Given the description of an element on the screen output the (x, y) to click on. 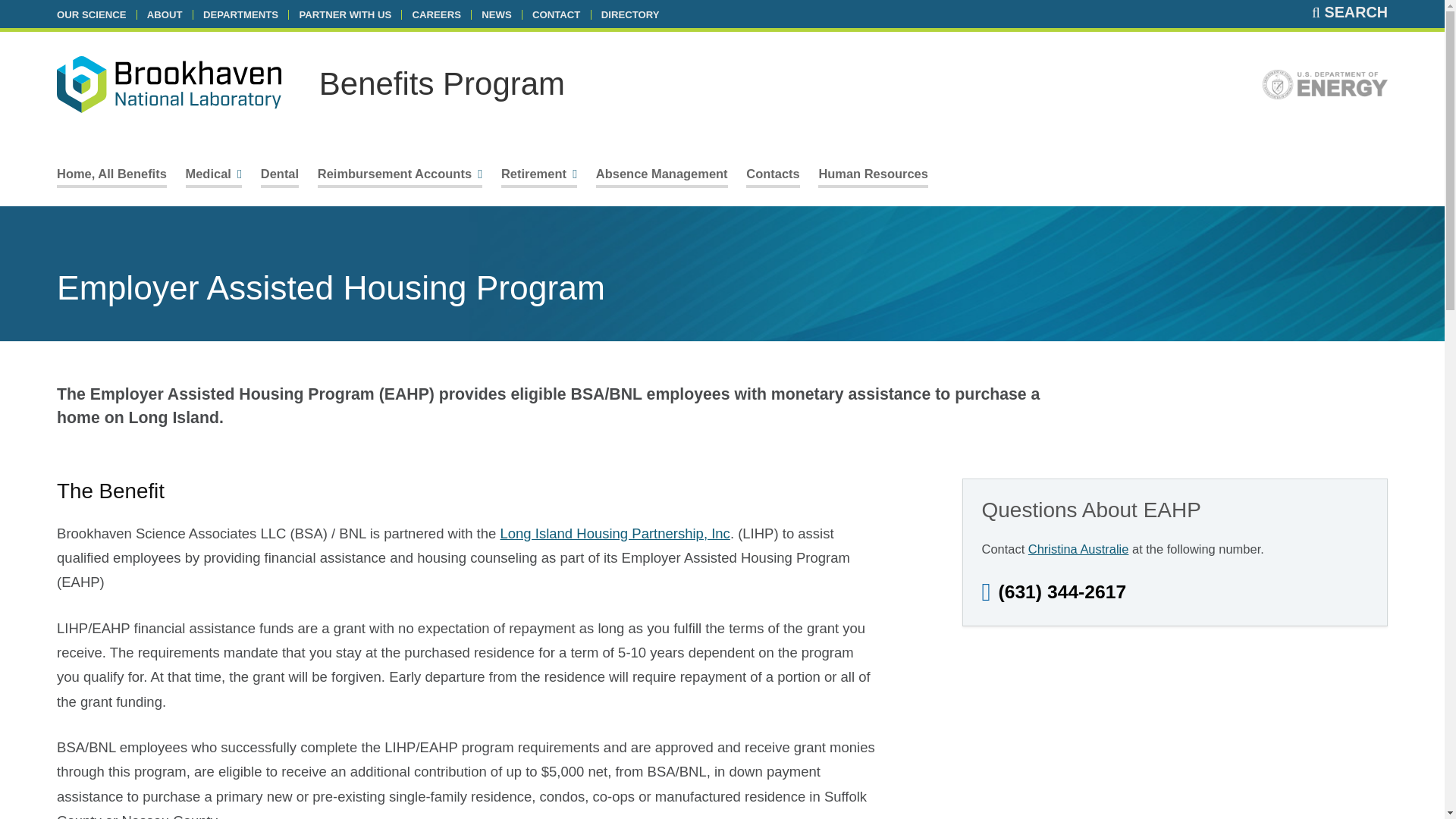
NEWS (496, 14)
DIRECTORY (630, 14)
BNL Homepage (168, 84)
DOE Office of Science (1324, 87)
SEARCH (1349, 12)
CONTACT (555, 14)
DOE Office of Science (1324, 84)
BNL Homepage (168, 87)
CAREERS (436, 14)
DEPARTMENTS (240, 14)
OUR SCIENCE (90, 14)
PARTNER WITH US (344, 14)
ABOUT (165, 14)
